Given the description of an element on the screen output the (x, y) to click on. 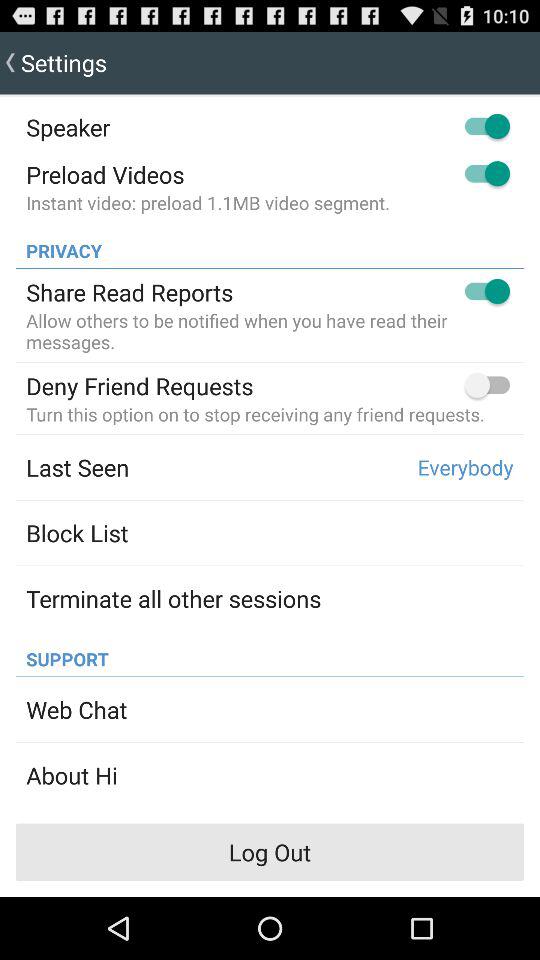
press about hi icon (71, 775)
